Given the description of an element on the screen output the (x, y) to click on. 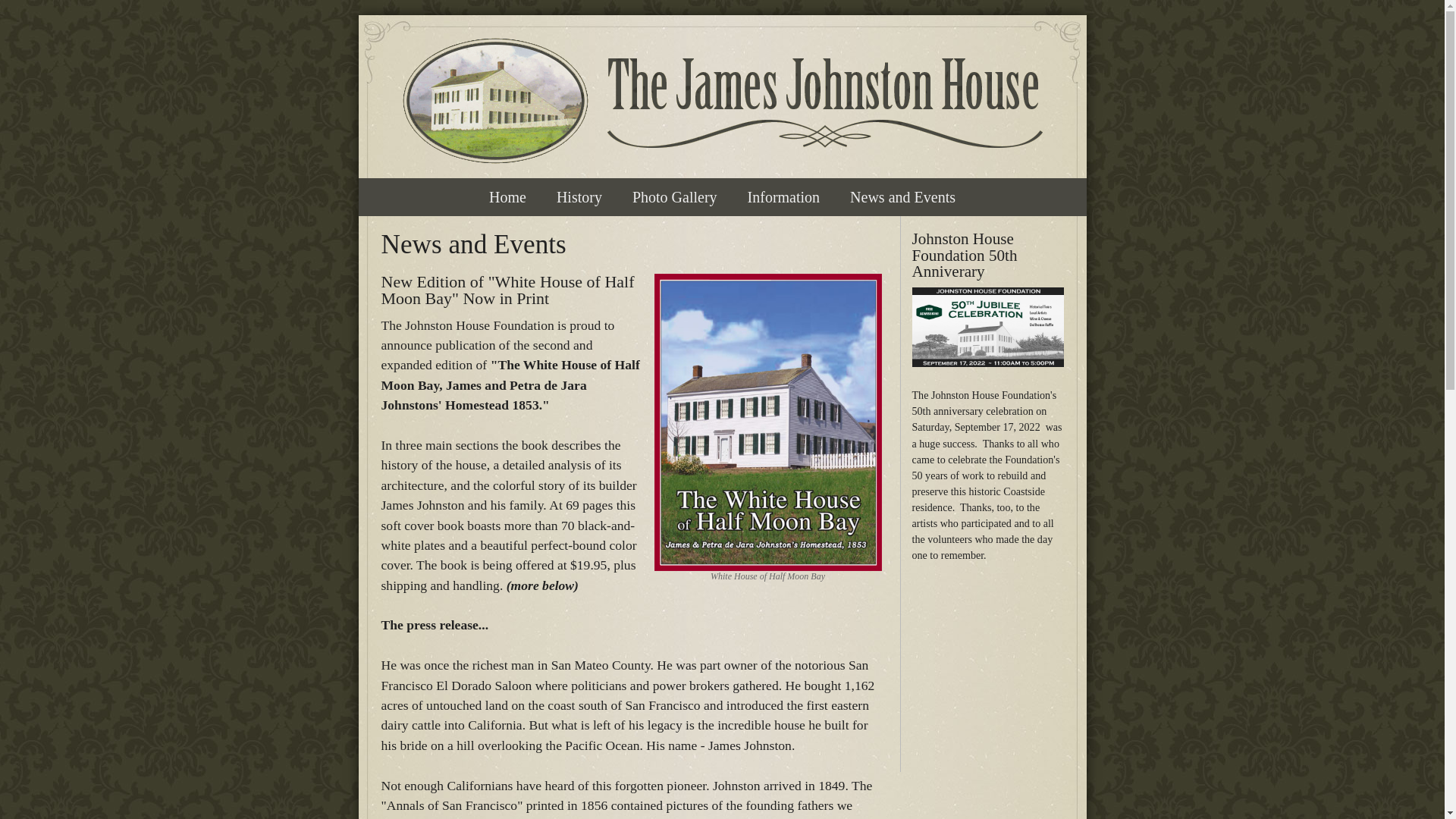
News and Events (902, 197)
History (579, 197)
Information (783, 197)
Home (507, 197)
Home (721, 102)
Photo Gallery (674, 197)
